Given the description of an element on the screen output the (x, y) to click on. 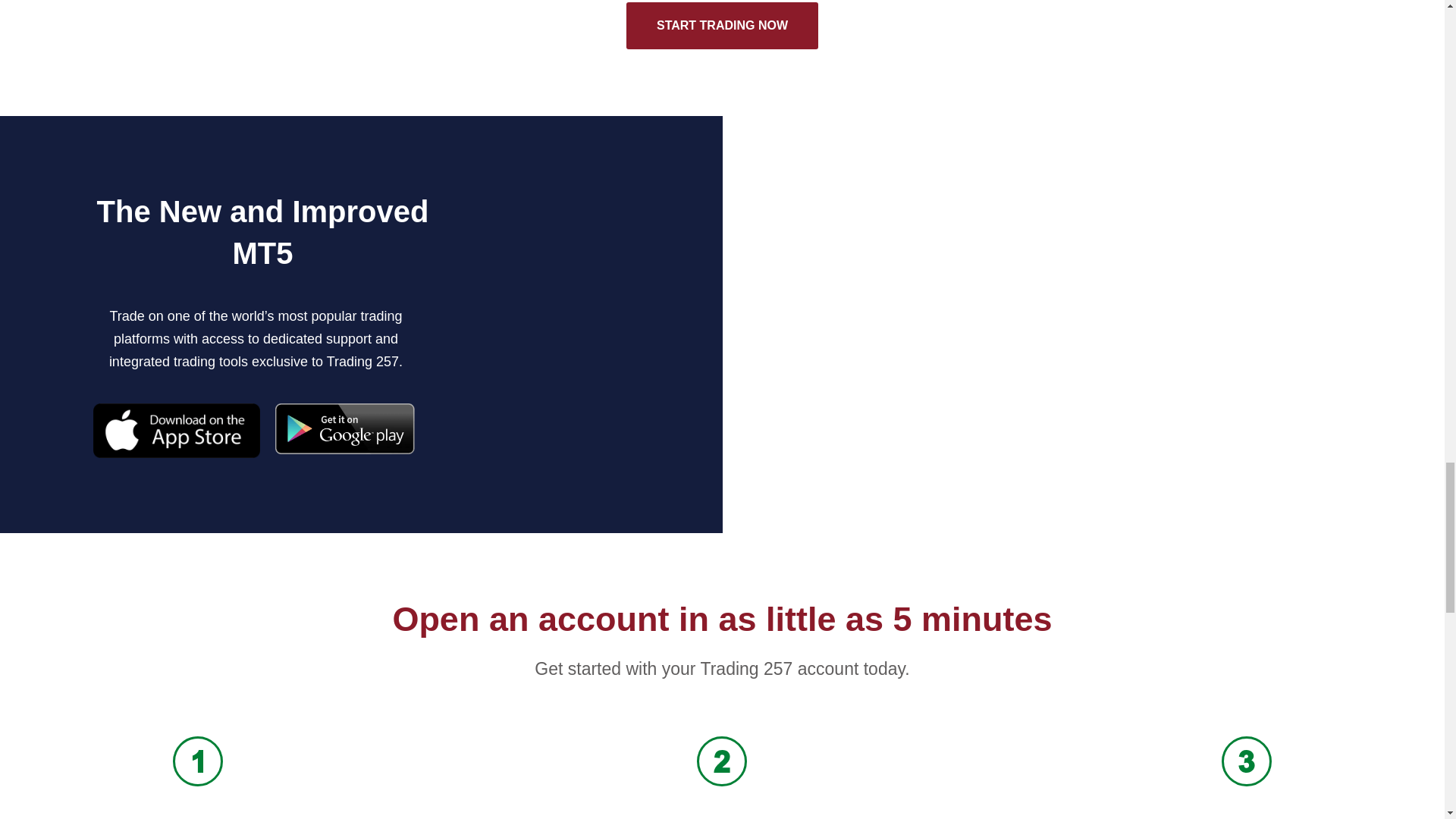
START TRADING NOW (721, 25)
